Given the description of an element on the screen output the (x, y) to click on. 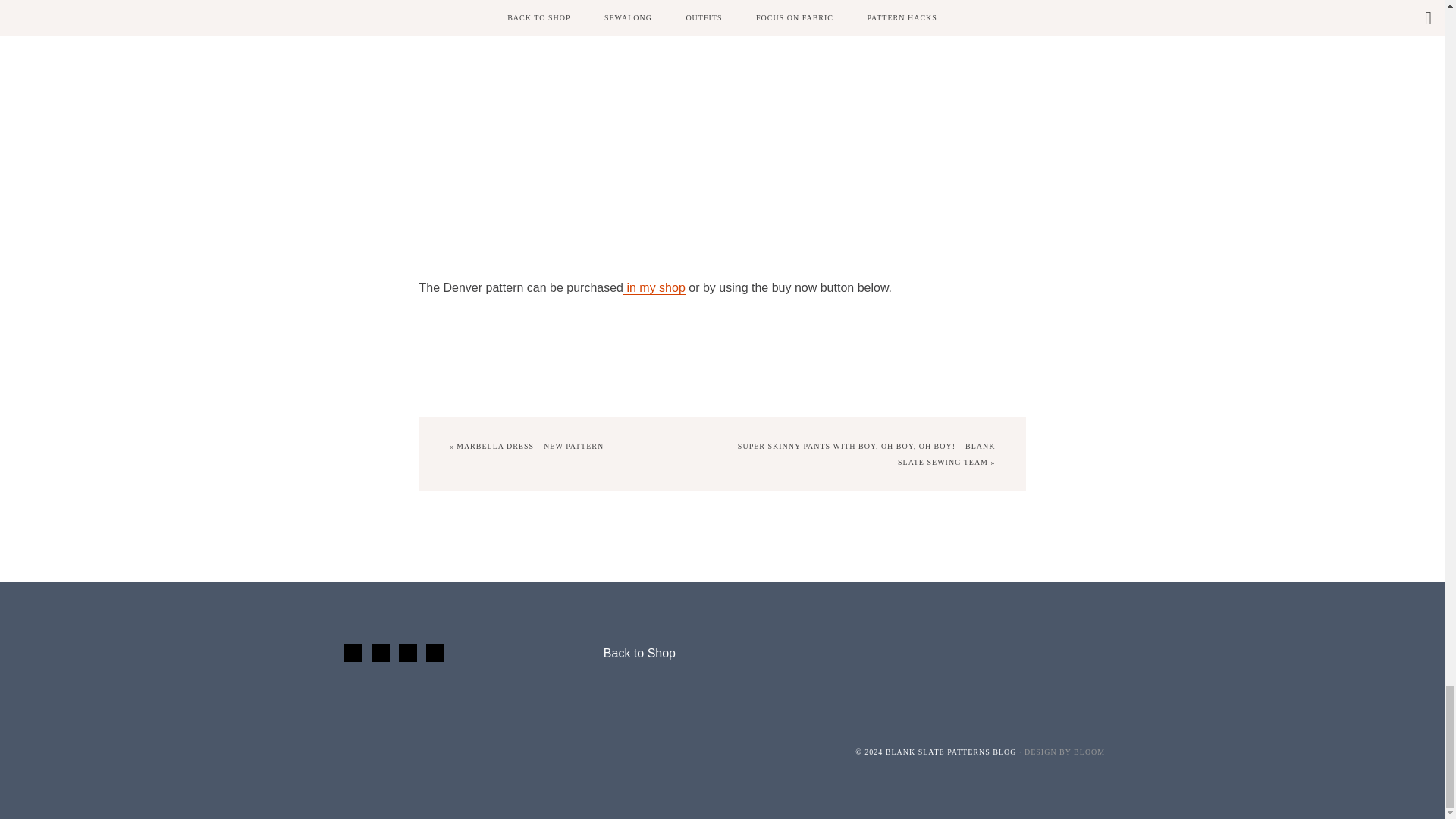
in my shop (654, 287)
DESIGN BY BLOOM (1065, 751)
Back to Shop (639, 653)
